Given the description of an element on the screen output the (x, y) to click on. 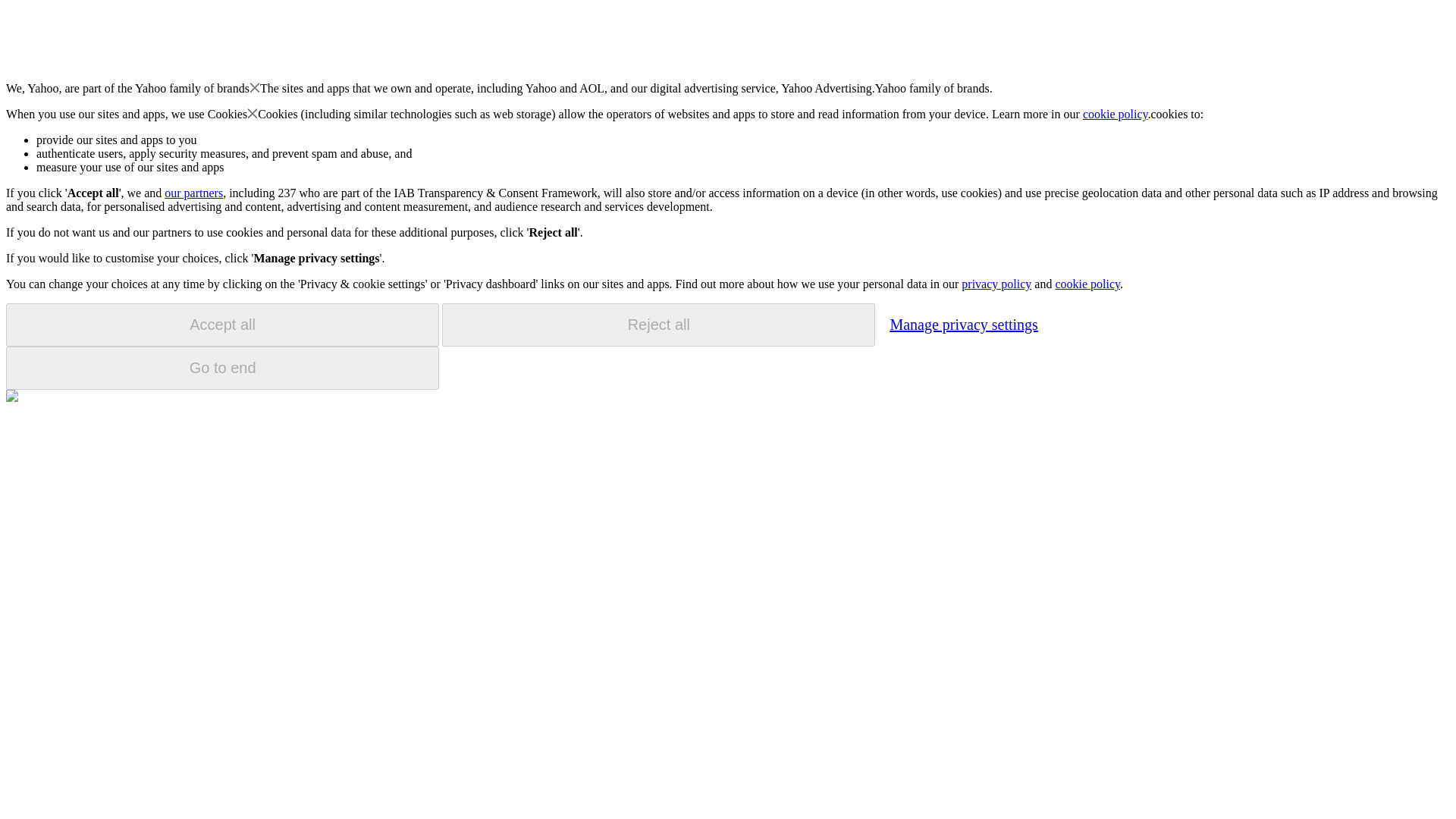
Go to end (222, 367)
Manage privacy settings (963, 323)
cookie policy (1115, 113)
privacy policy (995, 283)
our partners (193, 192)
Accept all (222, 324)
cookie policy (1086, 283)
Reject all (658, 324)
